Given the description of an element on the screen output the (x, y) to click on. 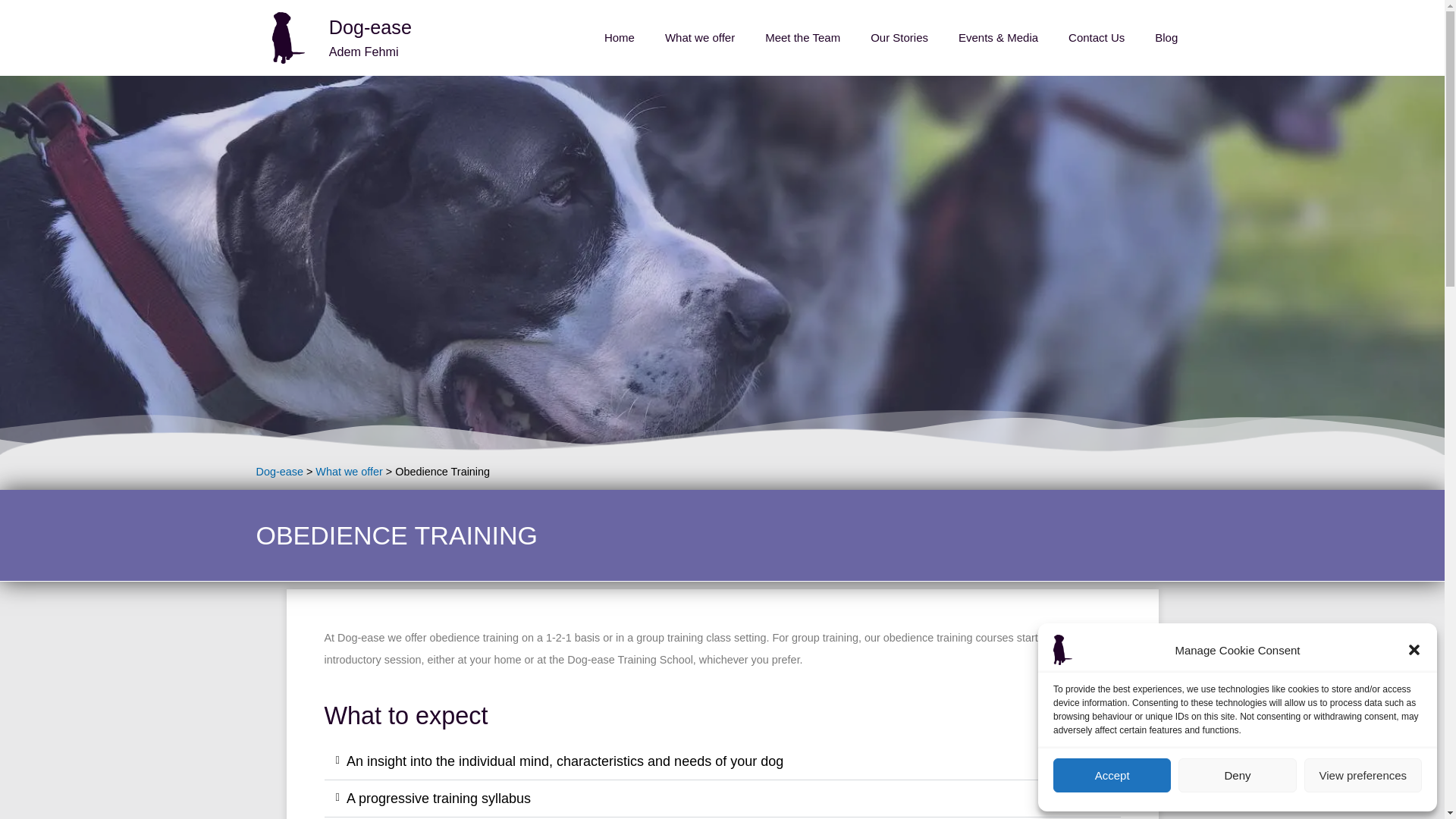
Go to Dog-ease. (279, 471)
Our Stories (899, 38)
Accept (1111, 775)
Go to What we offer. (348, 471)
View preferences (1363, 775)
Meet the Team (802, 38)
Contact Us (1096, 38)
What we offer (699, 38)
Deny (1236, 775)
